Given the description of an element on the screen output the (x, y) to click on. 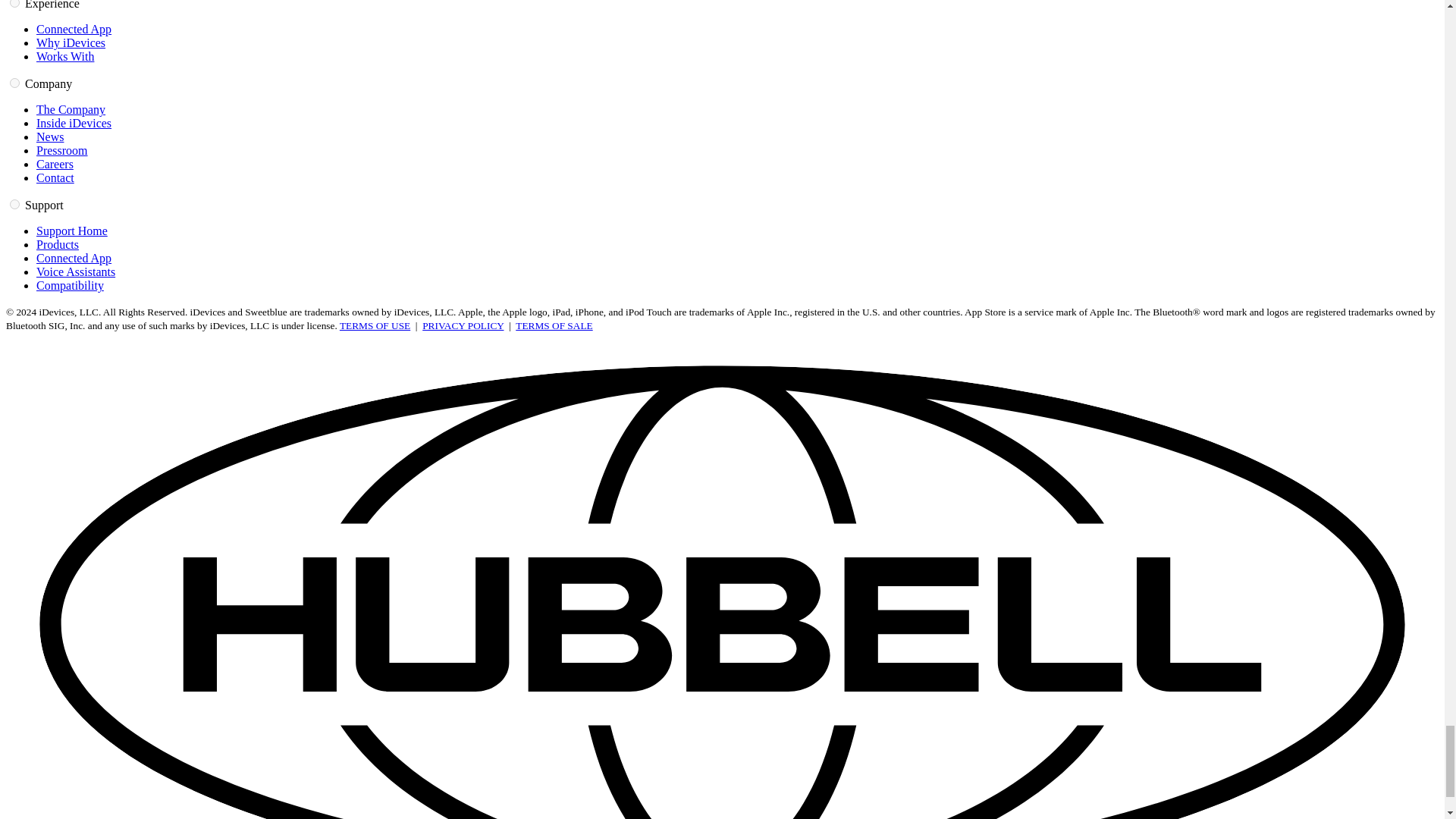
on (15, 82)
on (15, 204)
on (15, 3)
